Given the description of an element on the screen output the (x, y) to click on. 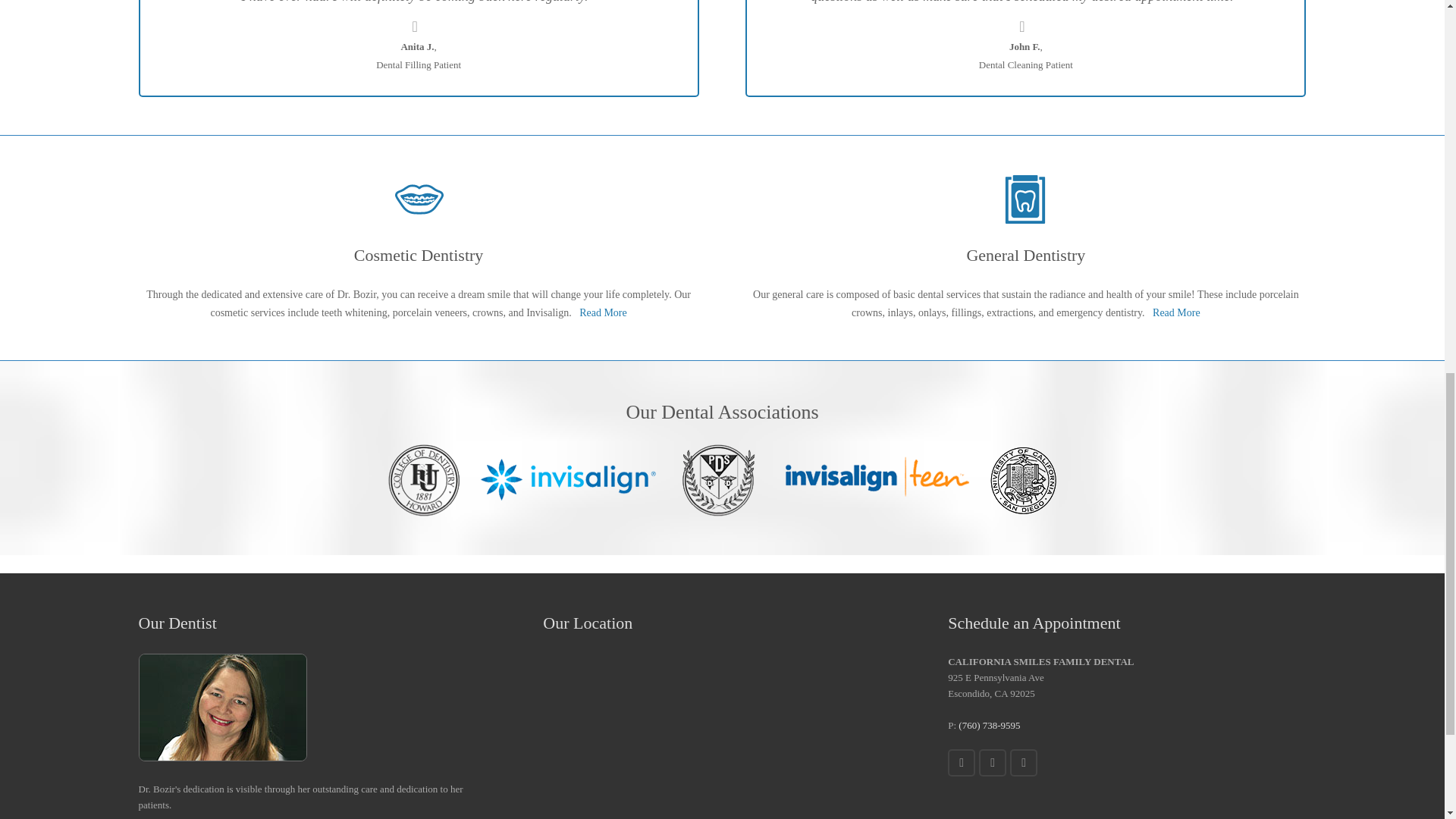
Read More (1176, 312)
Read More (603, 312)
California Smiles Family Dental Facebook (961, 762)
